Given the description of an element on the screen output the (x, y) to click on. 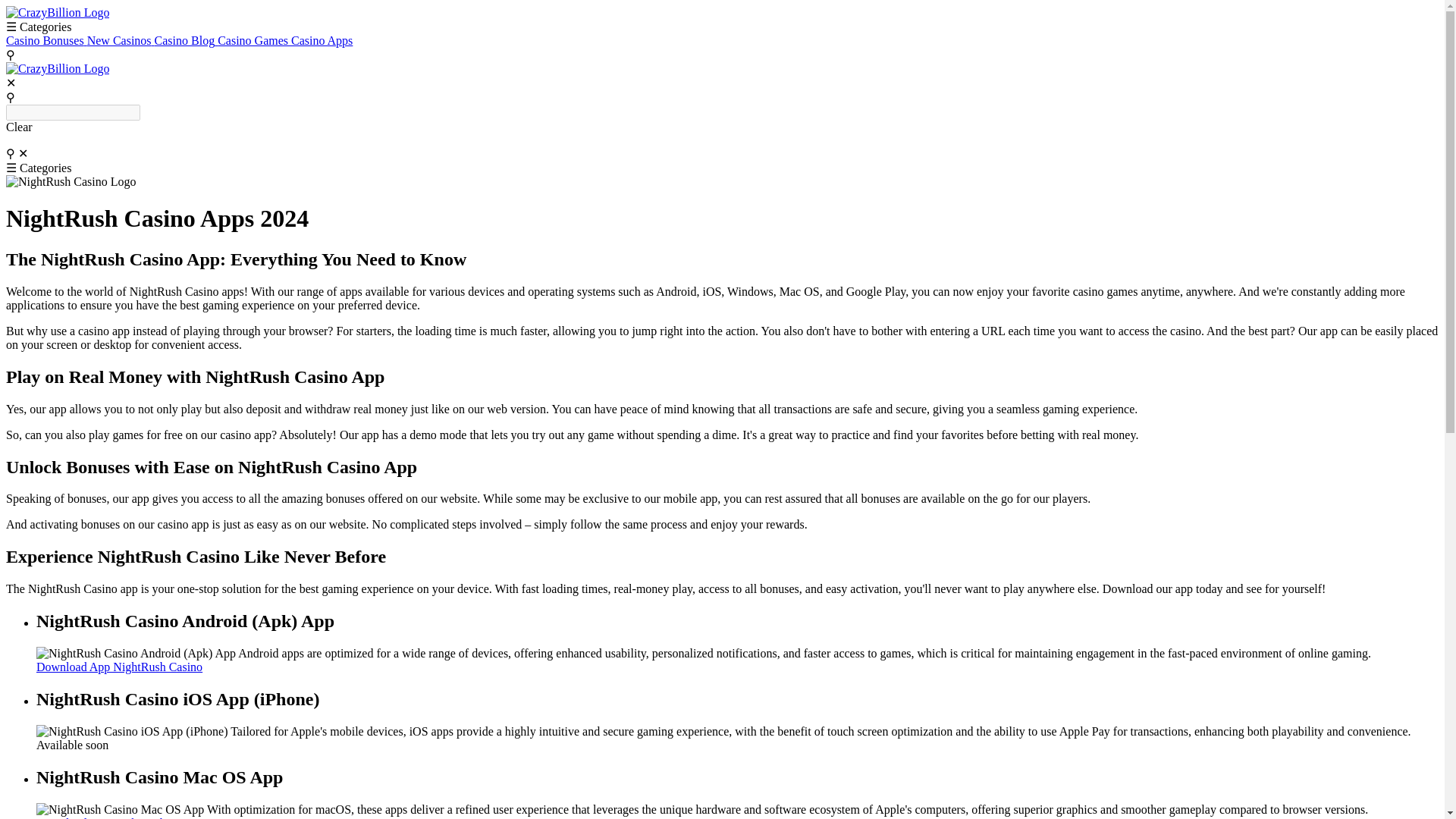
Casino Bonuses (46, 40)
Casino Games (253, 40)
Casino Blog (186, 40)
New Casinos (120, 40)
Download App NightRush Casino (119, 666)
Download App NightRush Casino (119, 817)
Casino Apps (321, 40)
